Given the description of an element on the screen output the (x, y) to click on. 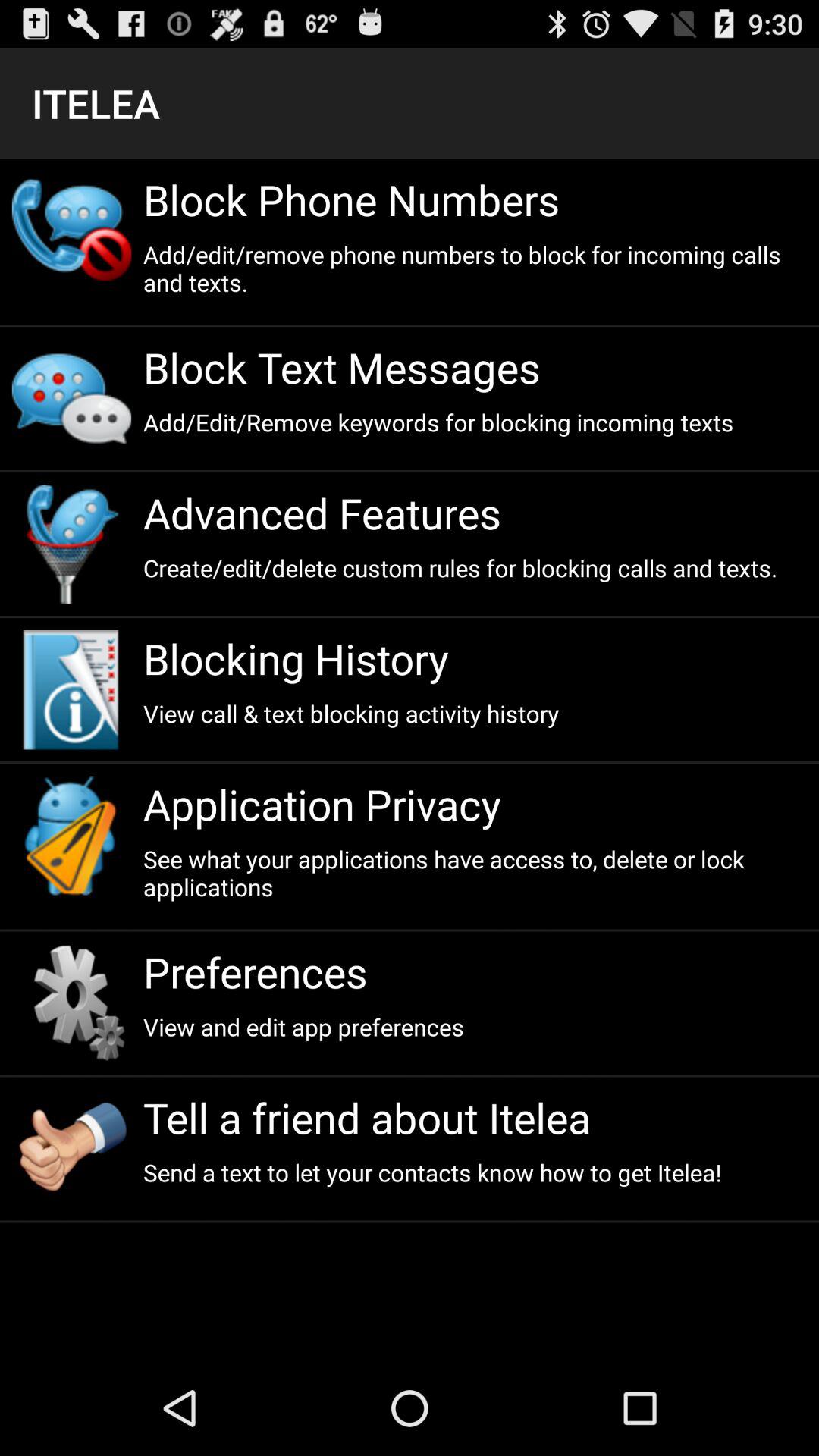
press the icon below tell a friend item (475, 1172)
